Given the description of an element on the screen output the (x, y) to click on. 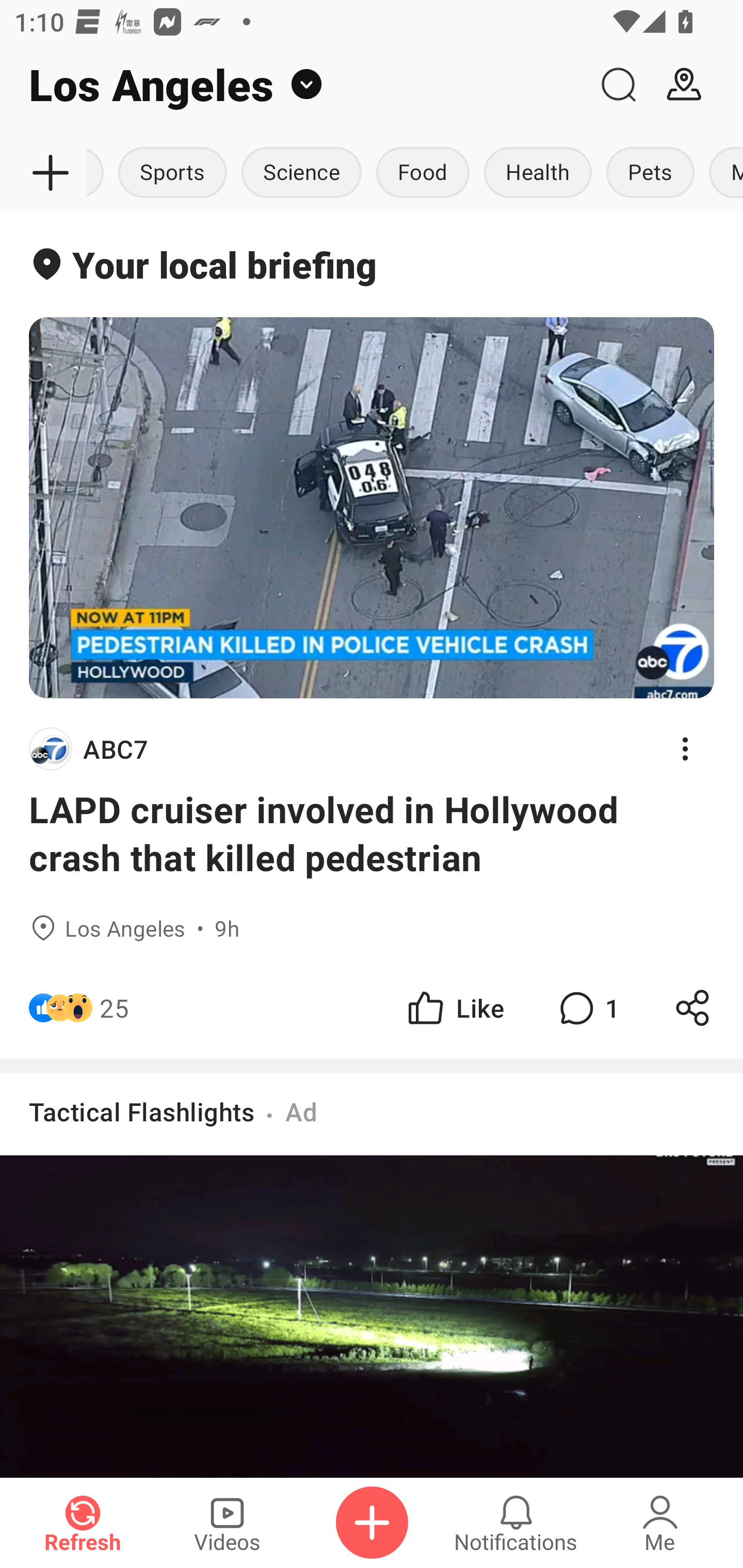
Los Angeles (292, 84)
Sports (172, 172)
Science (301, 172)
Food (423, 172)
Health (537, 172)
Pets (649, 172)
25 (114, 1007)
Like (454, 1007)
1 (587, 1007)
Tactical Flashlights (141, 1111)
Videos (227, 1522)
Notifications (516, 1522)
Me (659, 1522)
